Given the description of an element on the screen output the (x, y) to click on. 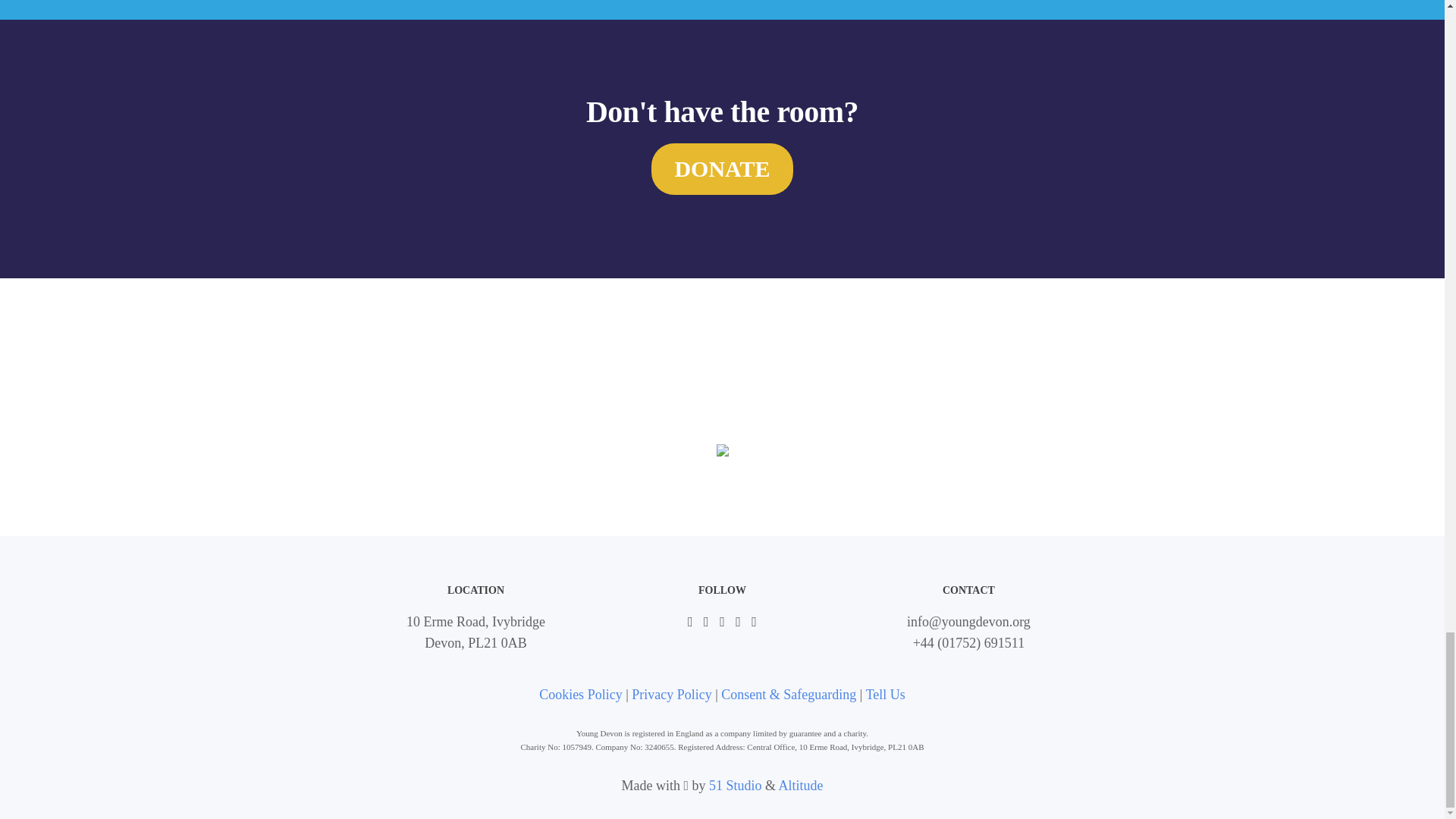
DONATE (721, 168)
Privacy Policy (671, 694)
Cookies Policy (580, 694)
Tell Us (885, 694)
